Given the description of an element on the screen output the (x, y) to click on. 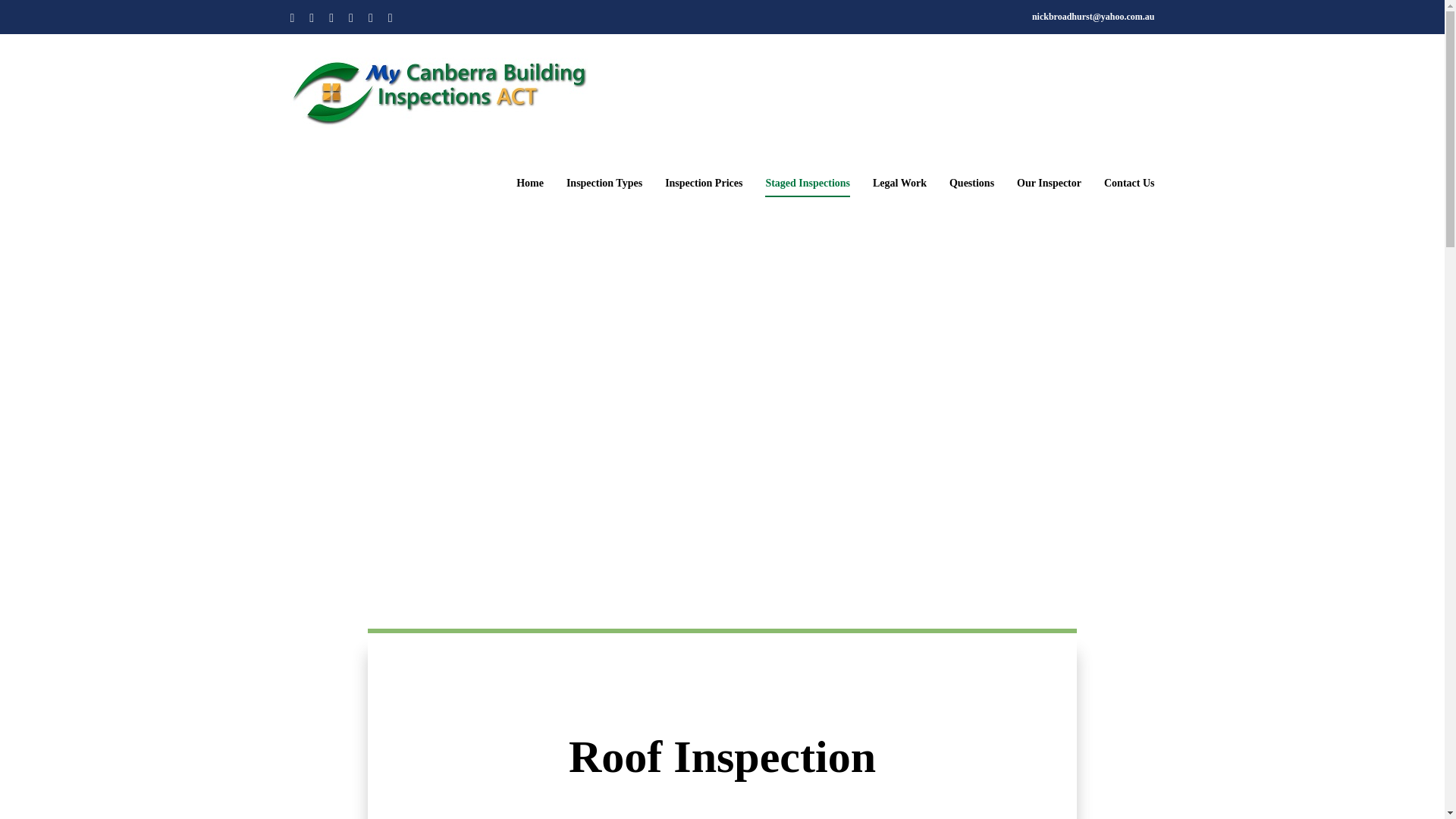
Inspection Prices (703, 183)
Our Inspector (1048, 183)
Inspection Types (604, 183)
Staged Inspections (807, 183)
